Given the description of an element on the screen output the (x, y) to click on. 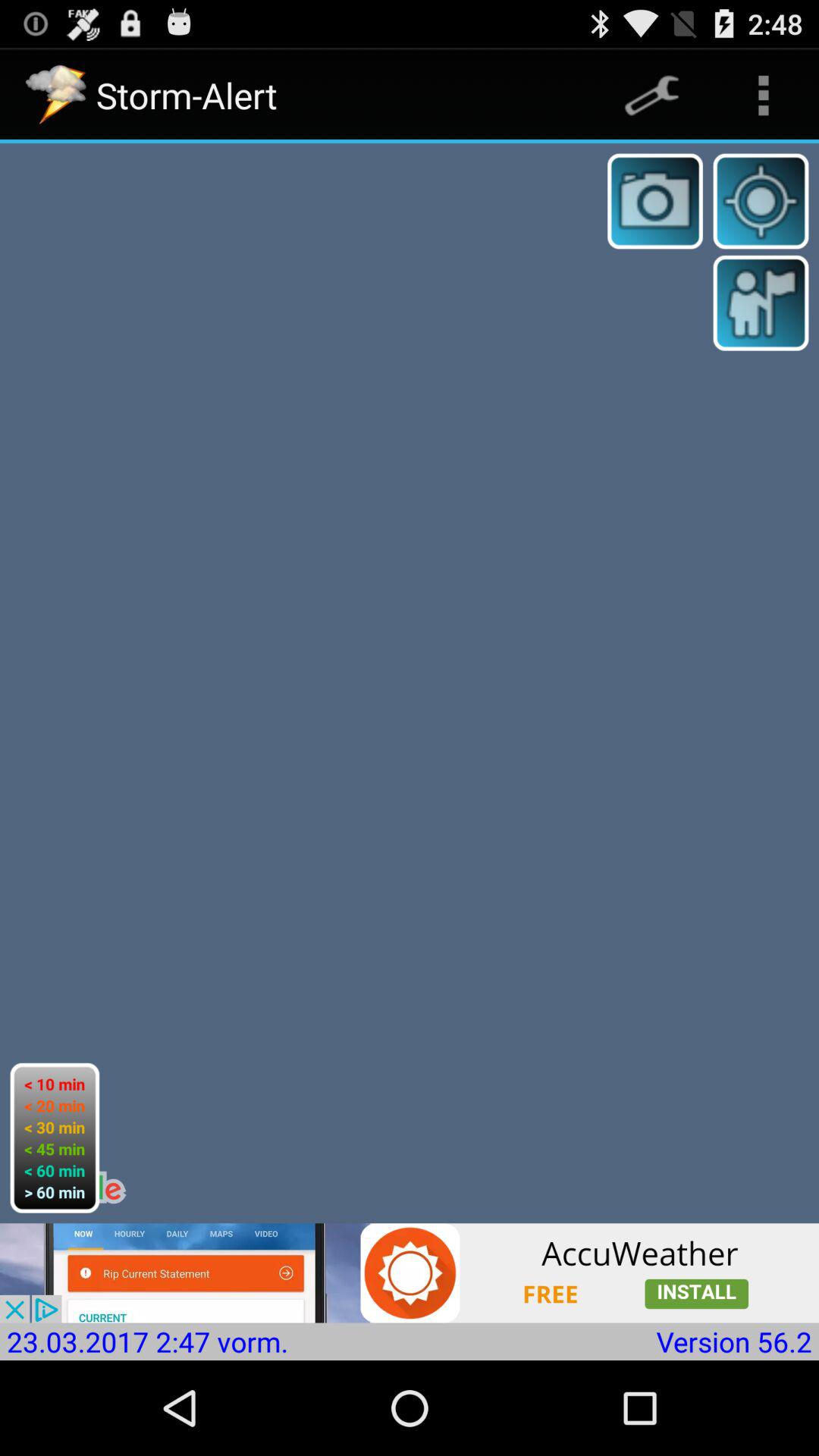
install accuweather (409, 1272)
